Given the description of an element on the screen output the (x, y) to click on. 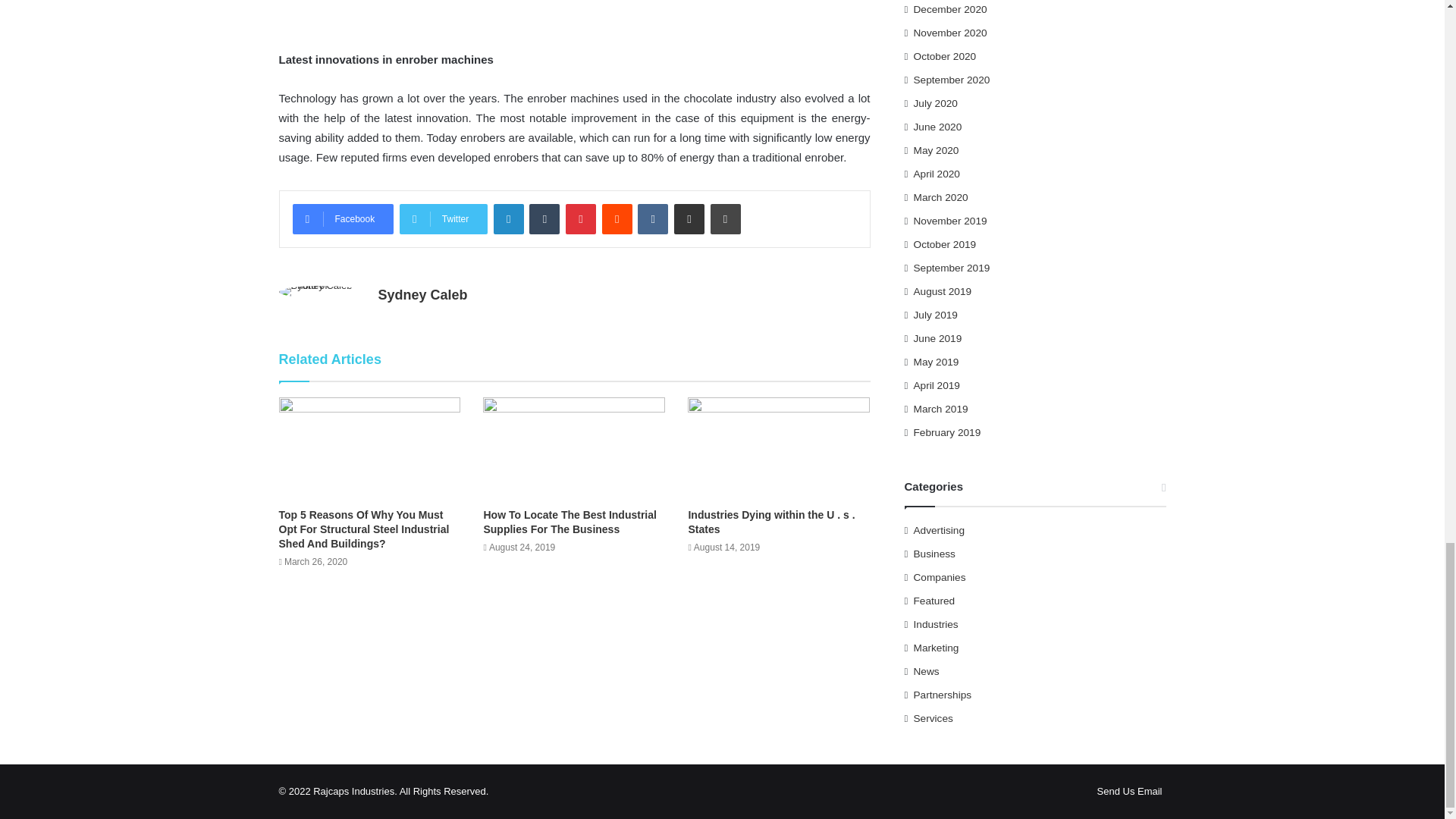
Reddit (616, 218)
Twitter (442, 218)
Reddit (616, 218)
Share via Email (689, 218)
Tumblr (544, 218)
LinkedIn (508, 218)
Tumblr (544, 218)
Twitter (442, 218)
Facebook (343, 218)
LinkedIn (508, 218)
Share via Email (689, 218)
VKontakte (652, 218)
Pinterest (580, 218)
Facebook (343, 218)
Pinterest (580, 218)
